Given the description of an element on the screen output the (x, y) to click on. 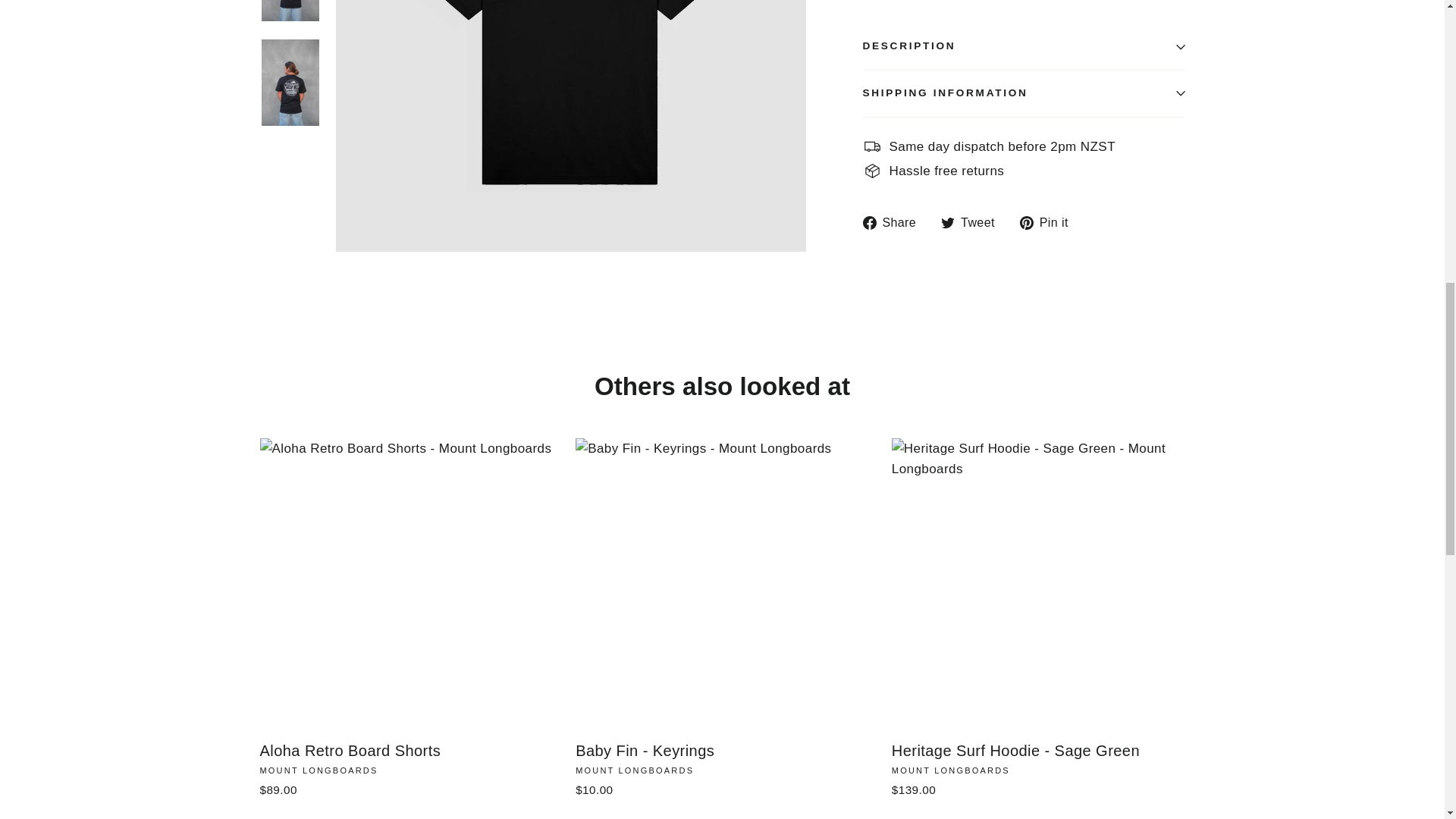
Tweet on Twitter (973, 222)
Pin on Pinterest (1050, 222)
Share on Facebook (895, 222)
twitter (947, 223)
